Given the description of an element on the screen output the (x, y) to click on. 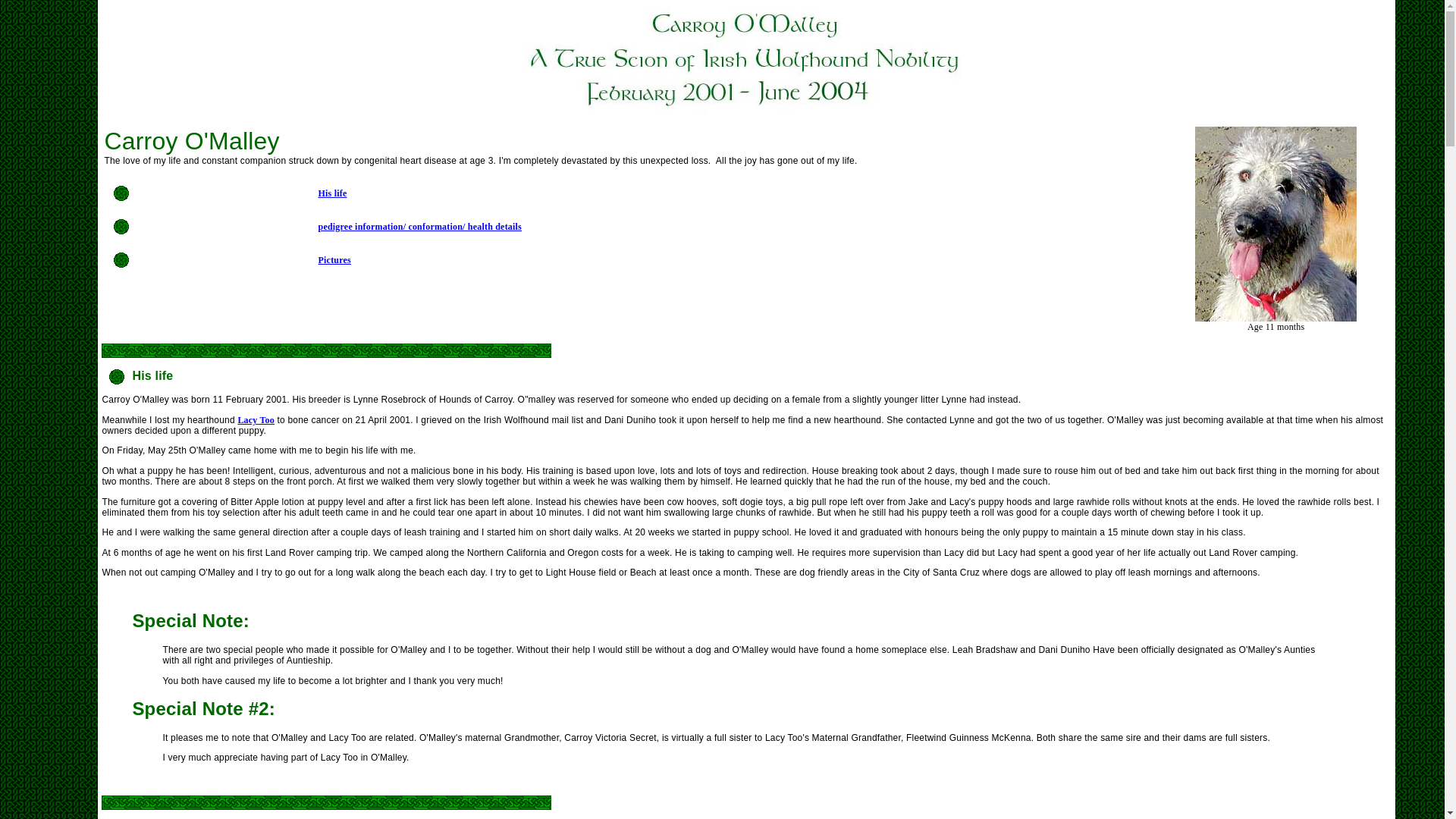
His life (332, 193)
Lacy Too (256, 419)
Pictures (334, 259)
